Given the description of an element on the screen output the (x, y) to click on. 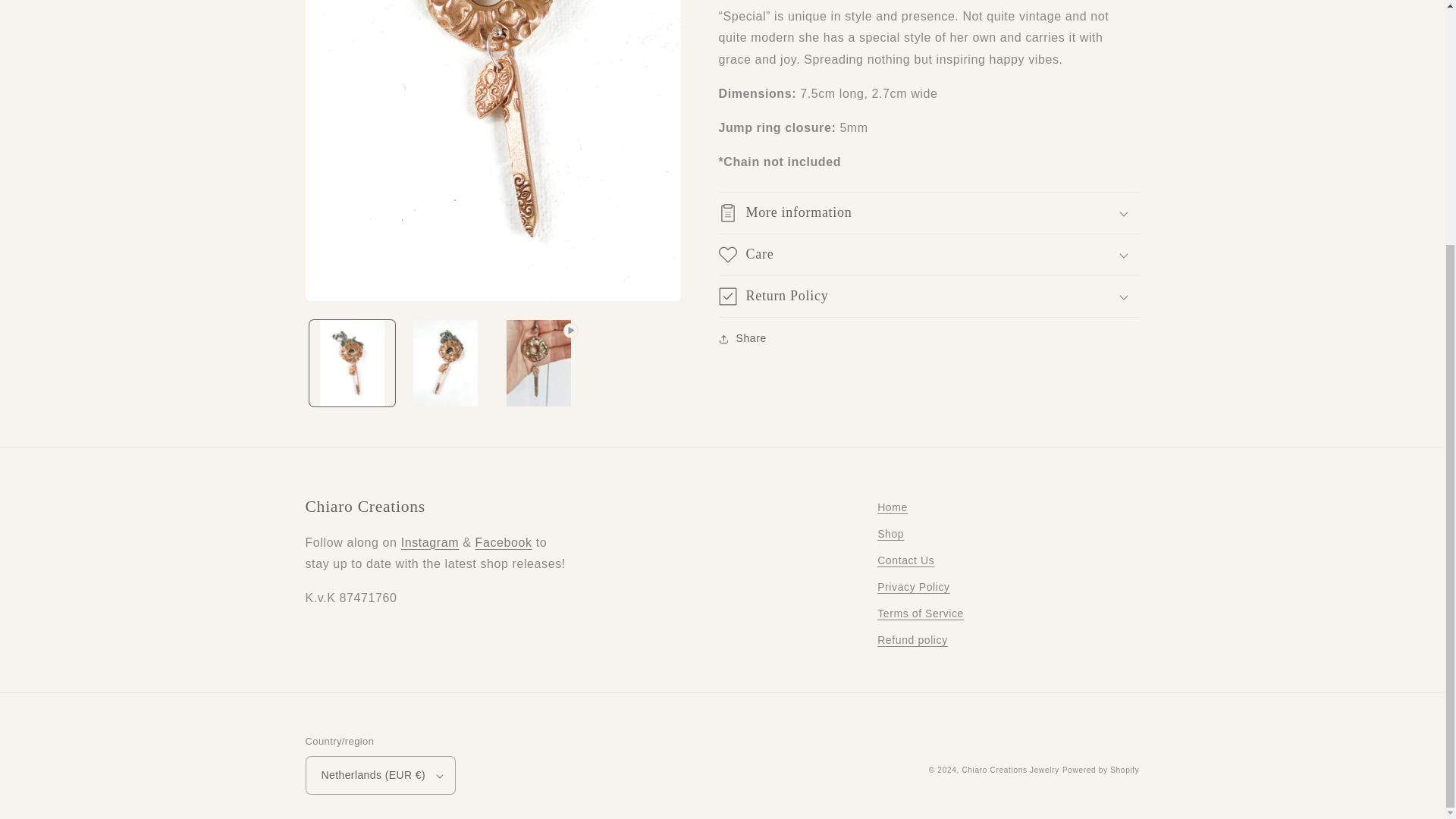
Link to Chiaro Creations Facebook  (504, 542)
